Given the description of an element on the screen output the (x, y) to click on. 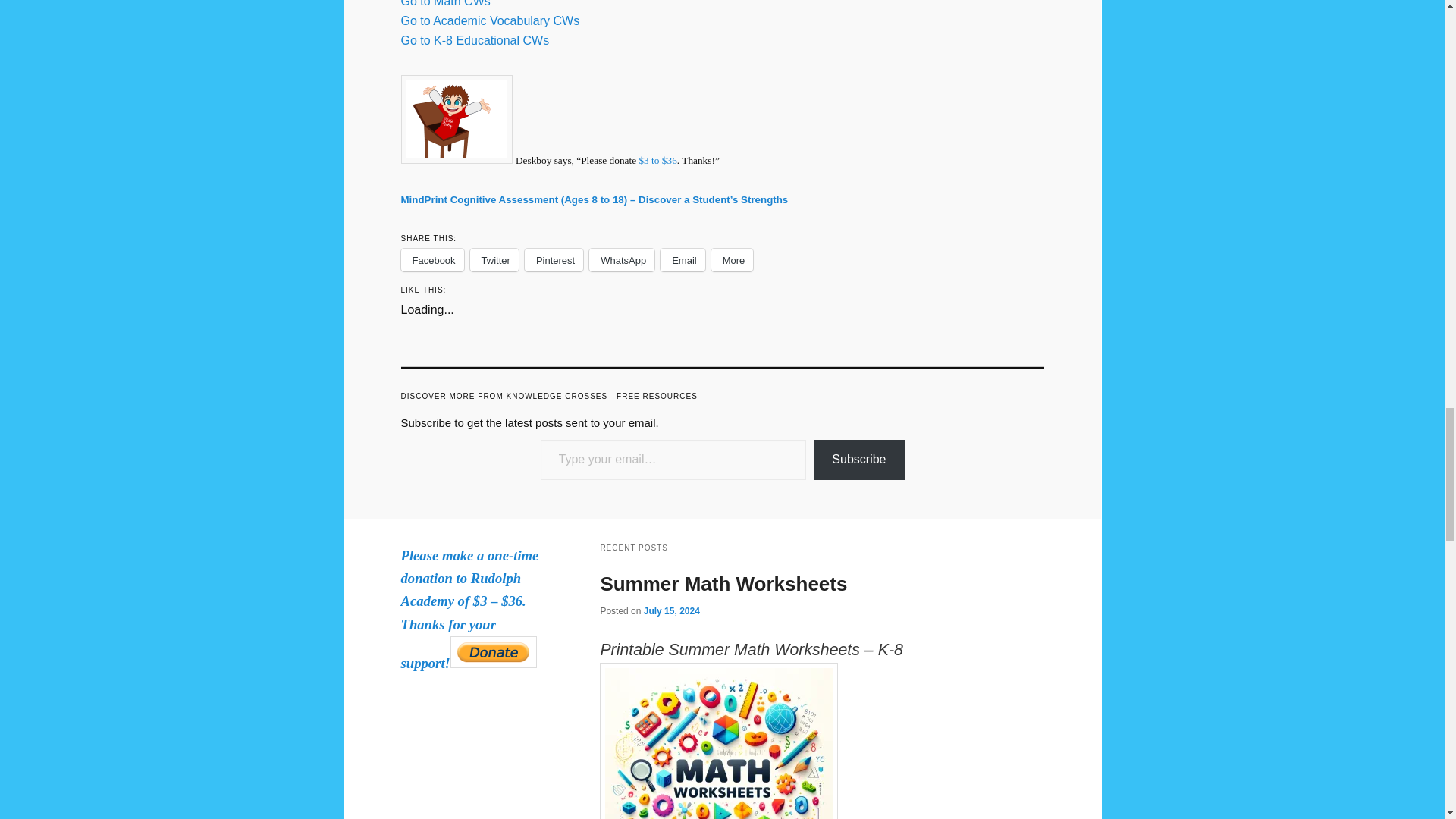
Click to share on Facebook (431, 259)
Please fill in this field. (673, 459)
Click to share on WhatsApp (621, 259)
Click to email a link to a friend (682, 259)
5:07 pm (671, 611)
Click to share on Pinterest (553, 259)
Click to share on Twitter (494, 259)
